Given the description of an element on the screen output the (x, y) to click on. 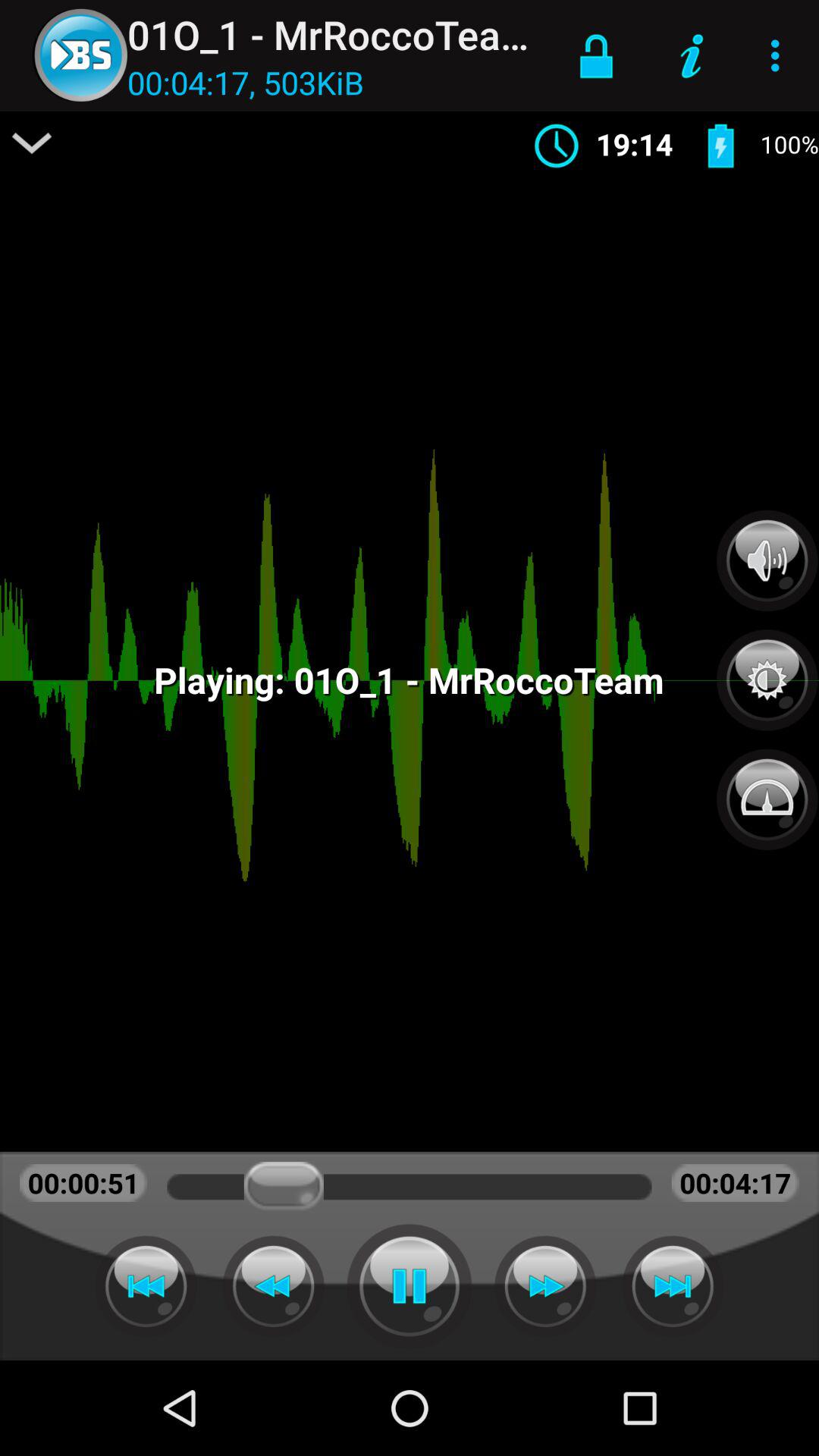
pause (409, 1286)
